Given the description of an element on the screen output the (x, y) to click on. 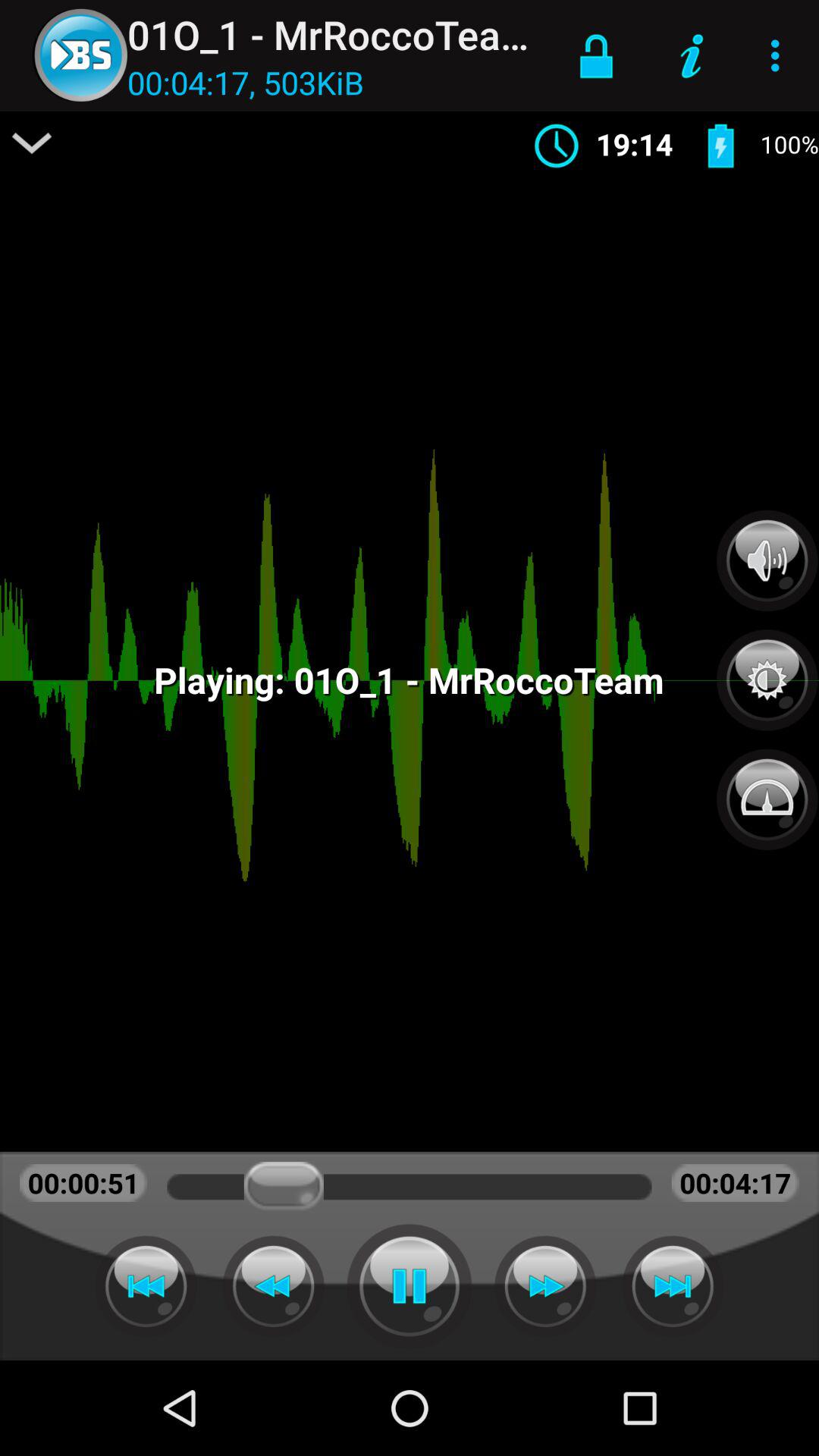
pause (409, 1286)
